Given the description of an element on the screen output the (x, y) to click on. 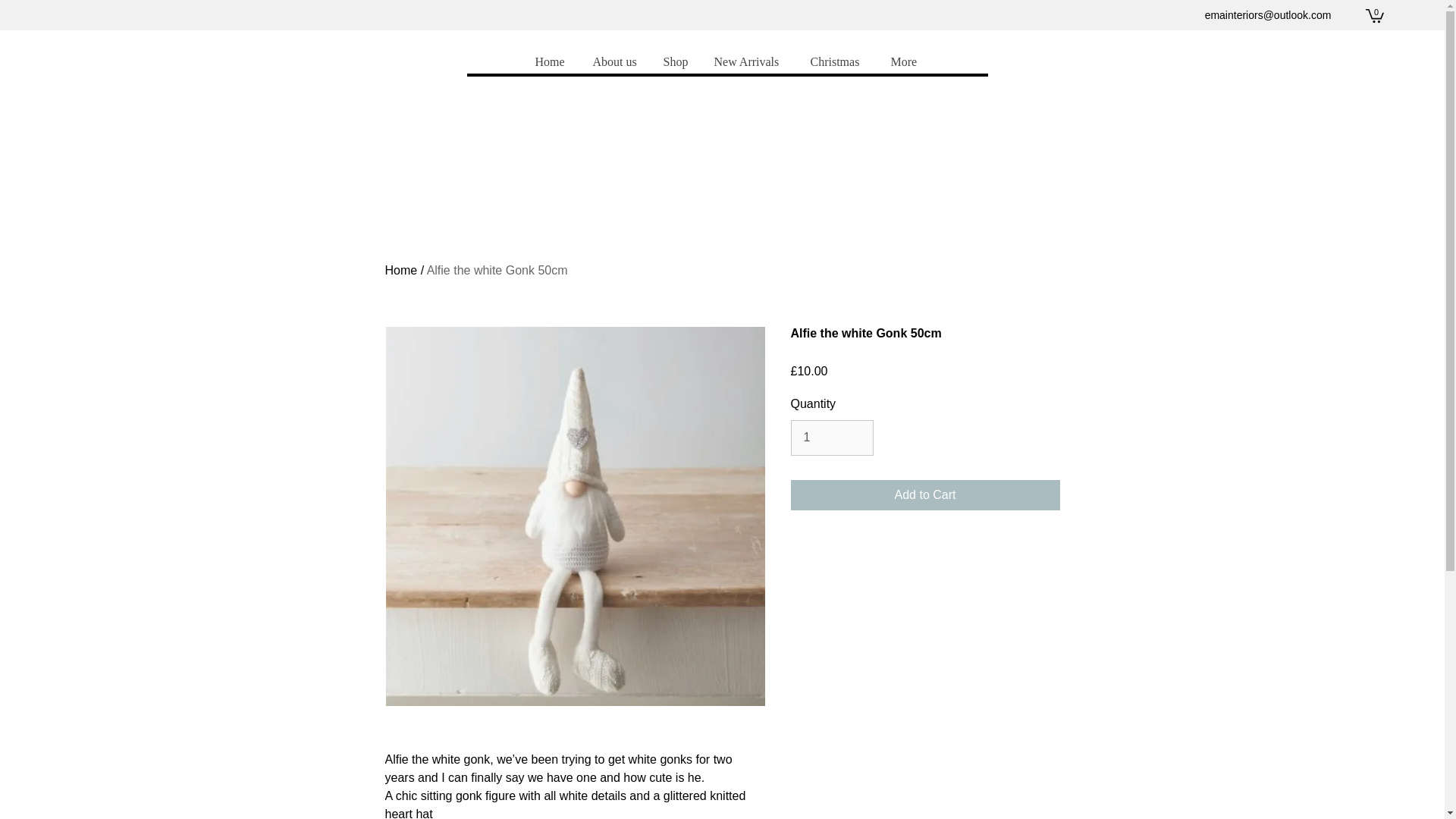
Add to Cart (924, 494)
Shop (675, 61)
0 (1374, 14)
Alfie the white Gonk 50cm (496, 269)
0 (1374, 14)
Home (401, 269)
New Arrivals (749, 61)
1 (831, 437)
Christmas (837, 61)
Home (551, 61)
